Given the description of an element on the screen output the (x, y) to click on. 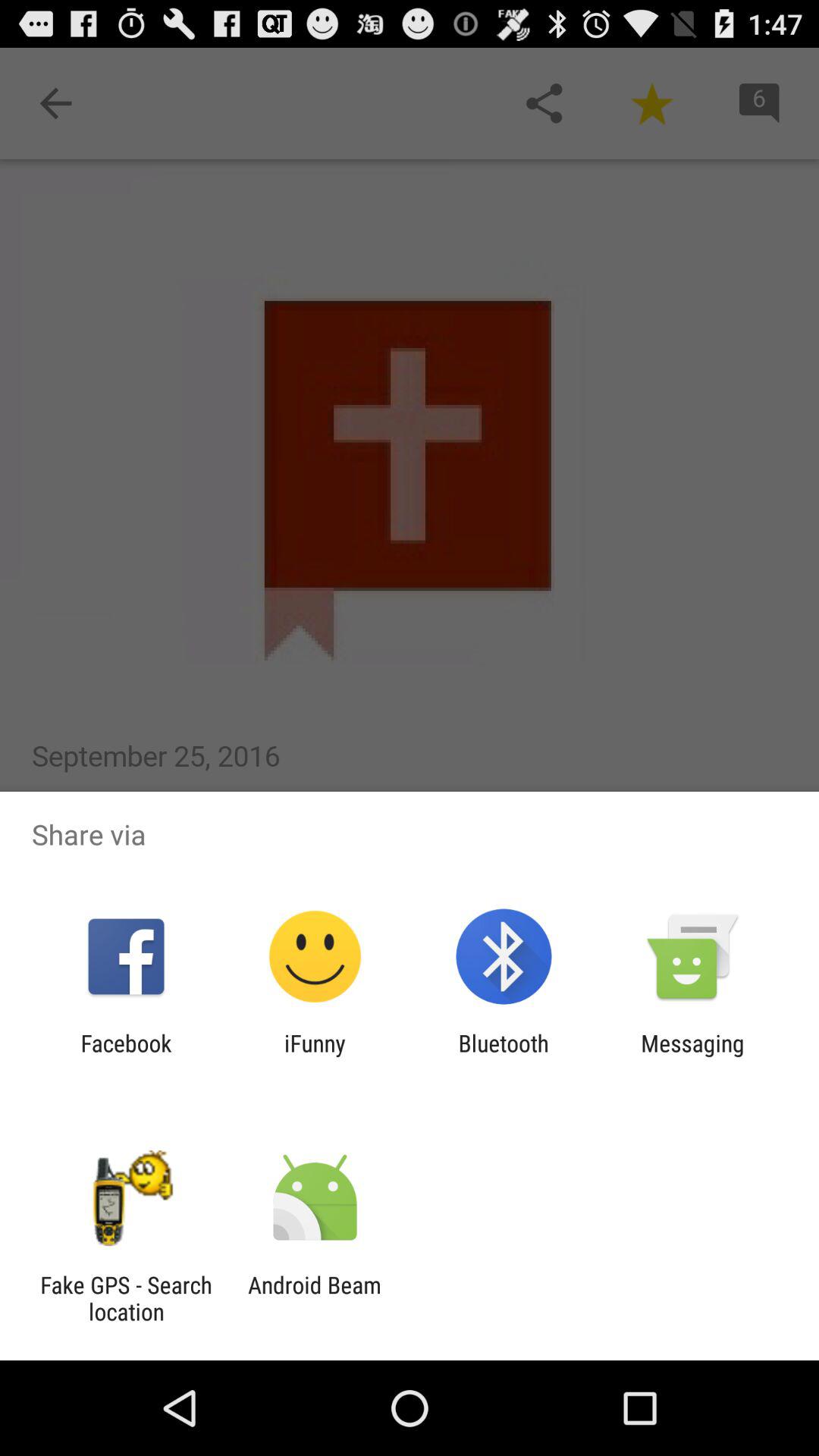
launch ifunny (314, 1056)
